Given the description of an element on the screen output the (x, y) to click on. 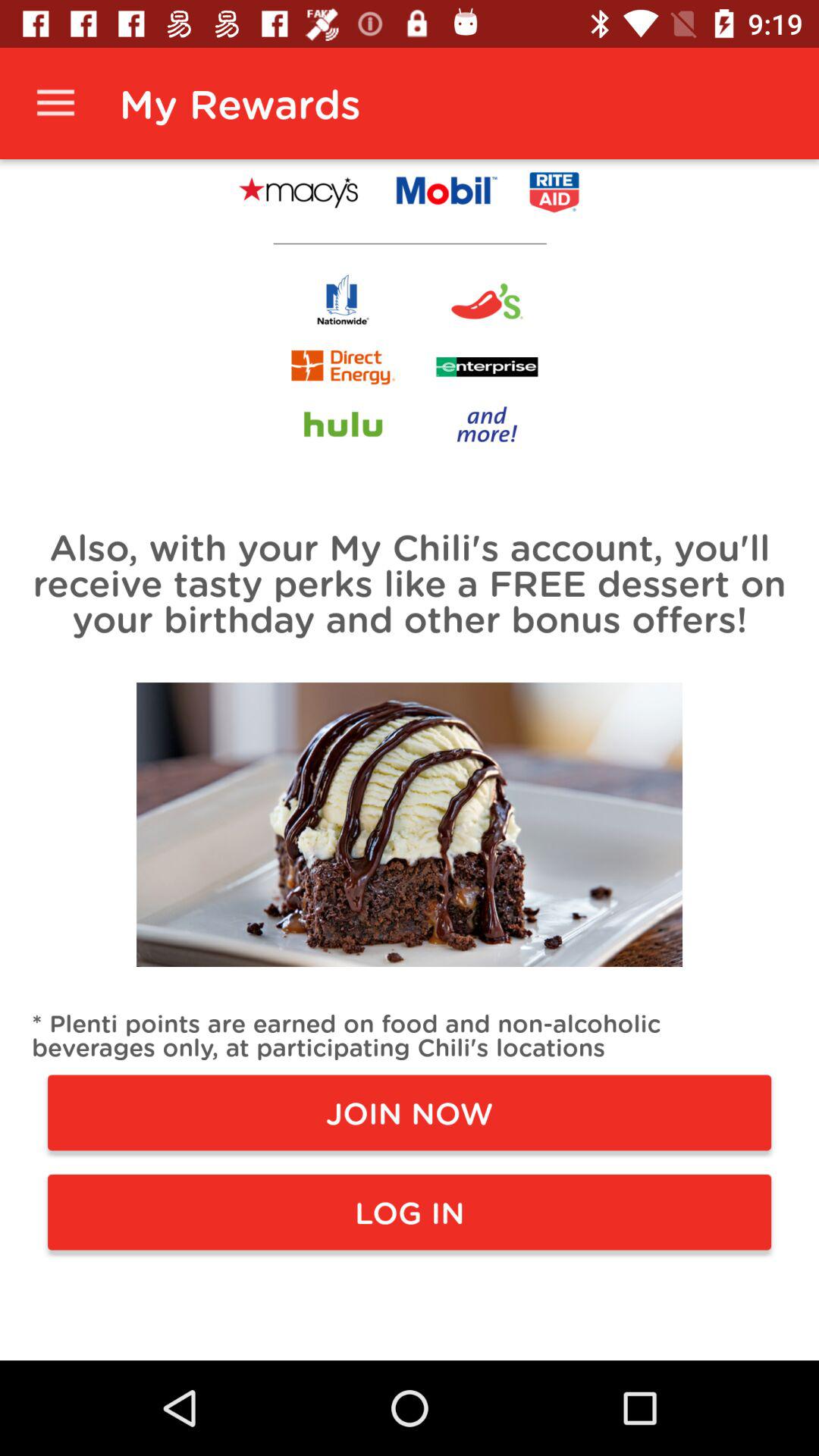
press the icon above log in (409, 1112)
